Given the description of an element on the screen output the (x, y) to click on. 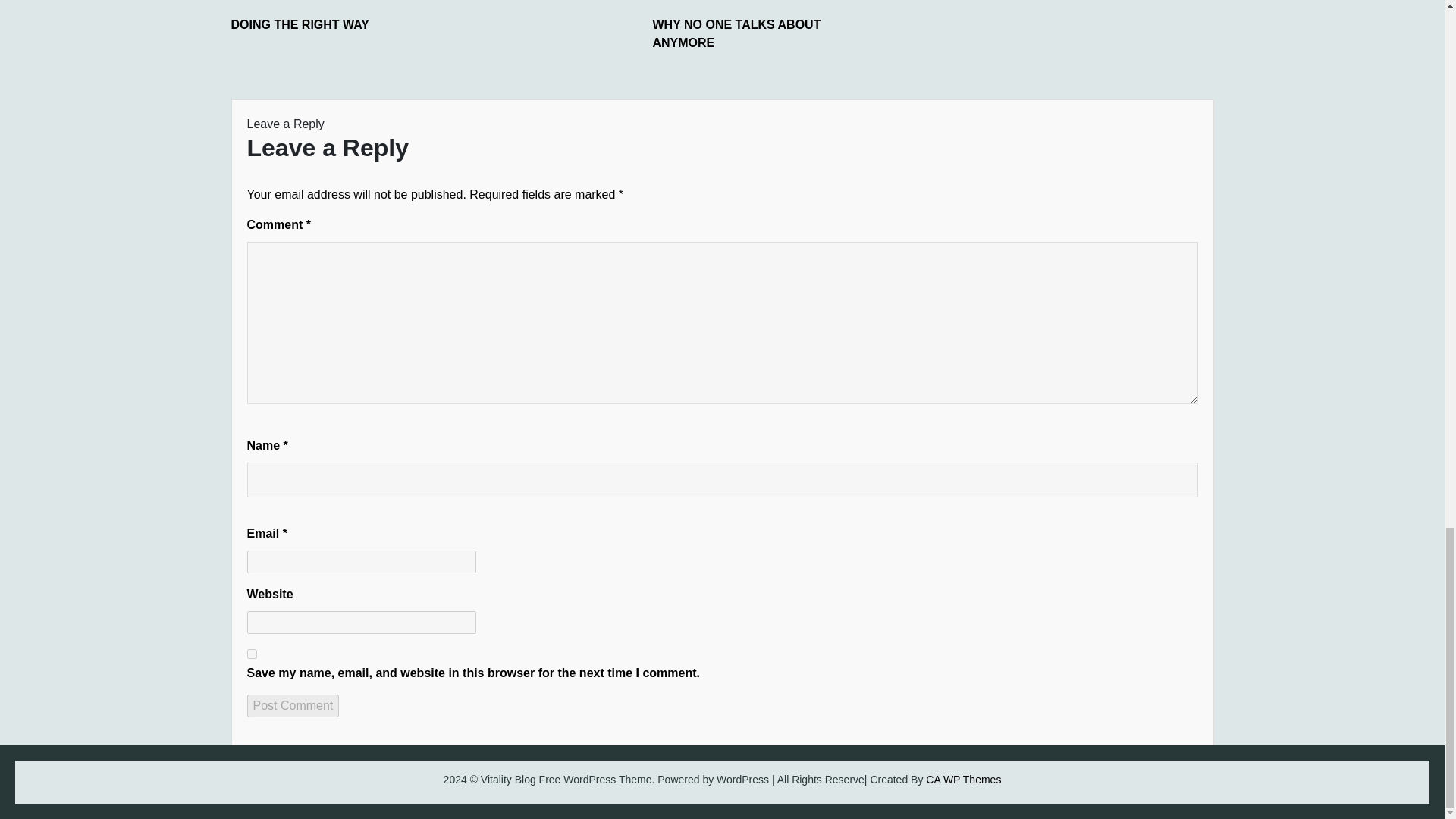
yes (252, 654)
WHY NO ONE TALKS ABOUT ANYMORE (765, 33)
CA WP Themes (963, 779)
Post Comment (293, 705)
DOING THE RIGHT WAY (344, 24)
Post Comment (293, 705)
